Given the description of an element on the screen output the (x, y) to click on. 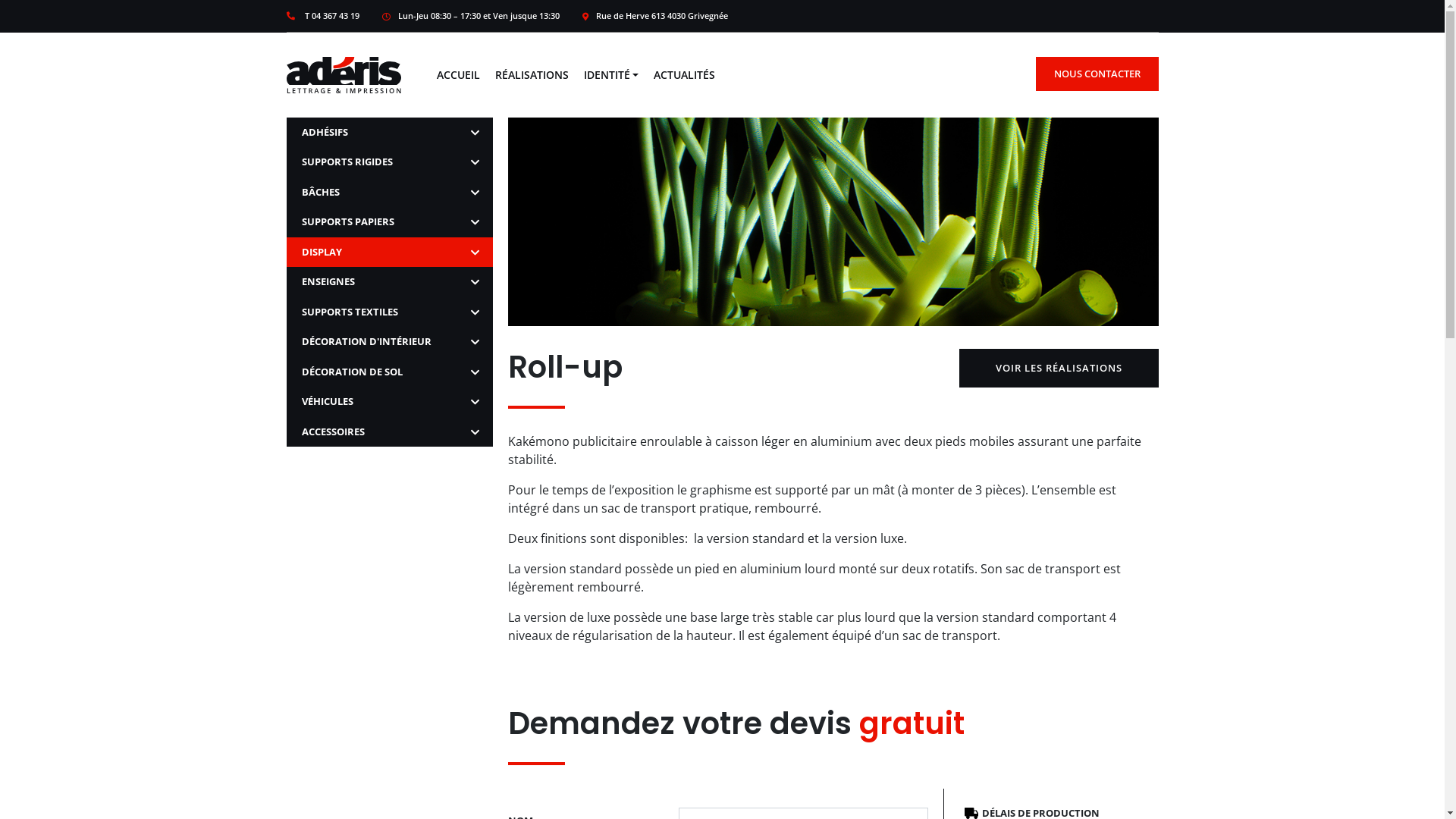
ACCESSOIRES Element type: text (389, 432)
Poster clamp Element type: text (843, 24)
T 04 367 43 19 Element type: text (322, 15)
DISPLAY Element type: text (389, 252)
NOUS CONTACTER Element type: text (1096, 72)
ACCUEIL Element type: text (458, 74)
SUPPORTS TEXTILES Element type: text (389, 312)
SUPPORTS PAPIERS Element type: text (389, 222)
ENSEIGNES Element type: text (389, 281)
SUPPORTS RIGIDES Element type: text (389, 162)
